Given the description of an element on the screen output the (x, y) to click on. 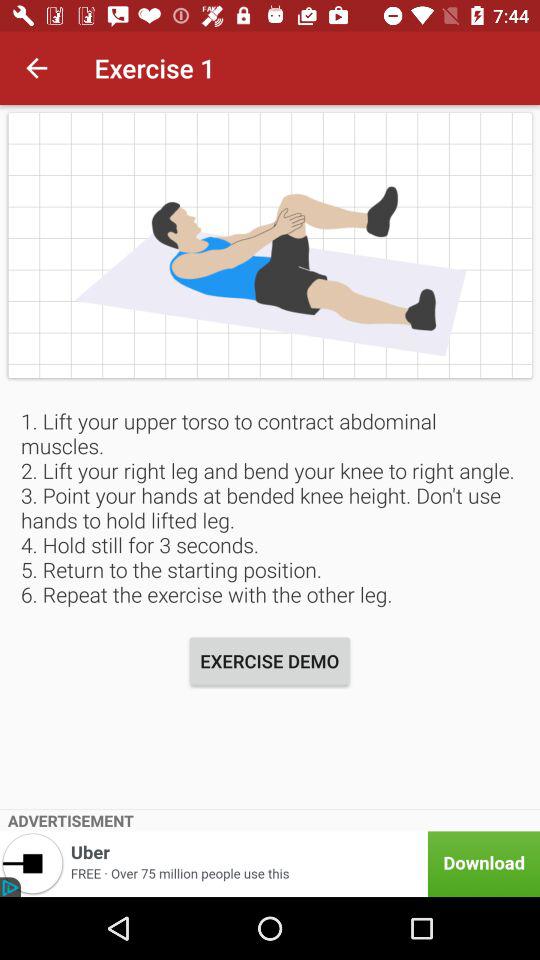
turn off the item below the 1 lift your (269, 660)
